Given the description of an element on the screen output the (x, y) to click on. 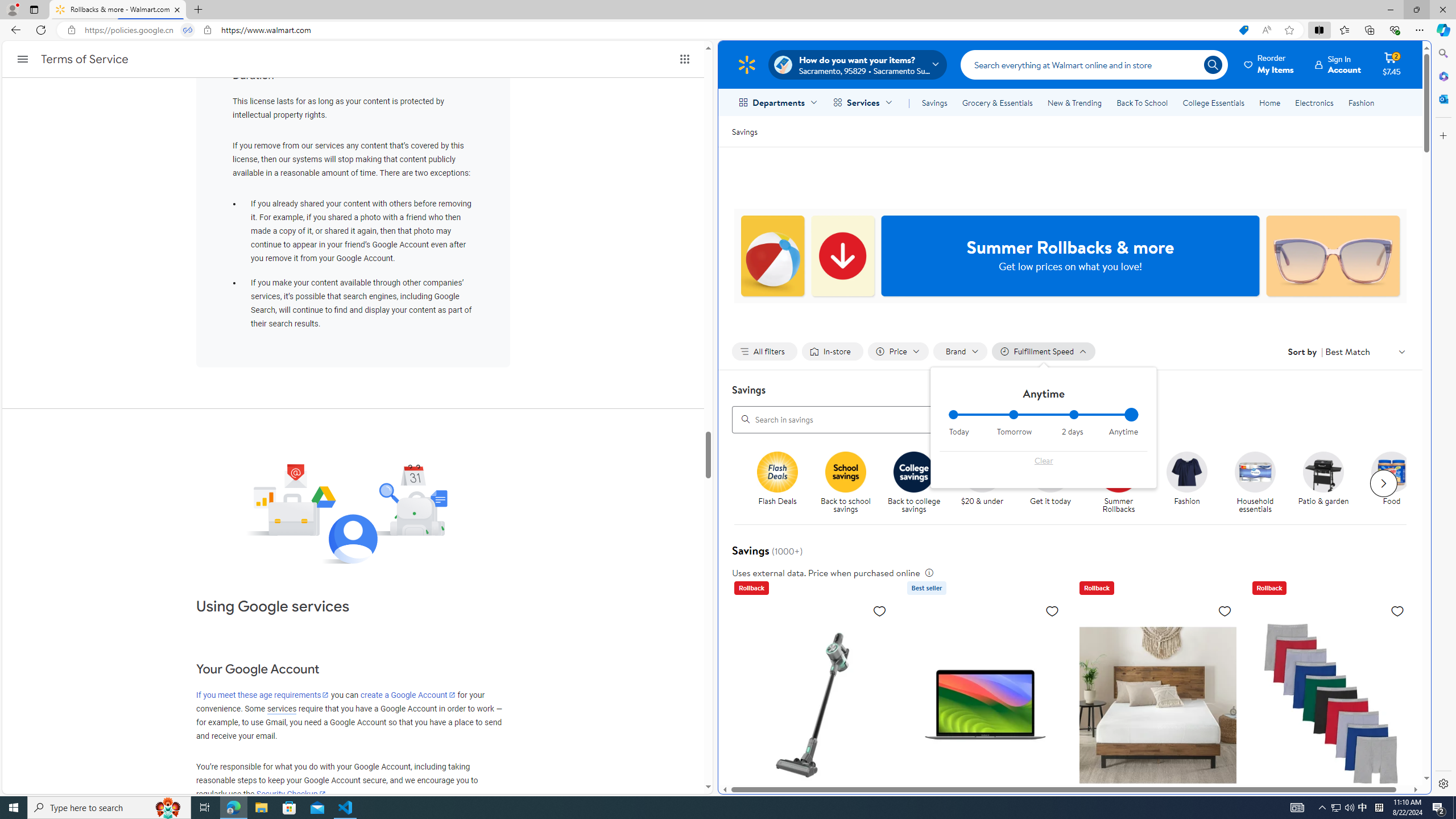
Sort by Best Match (1366, 351)
ReorderMy Items (1269, 64)
Class: ld ld-ChevronDown pa0 ml6 (1401, 351)
Food (1391, 471)
Food (1395, 483)
Flash Deals (782, 483)
Flash deals (777, 471)
Walmart Homepage (746, 64)
